Given the description of an element on the screen output the (x, y) to click on. 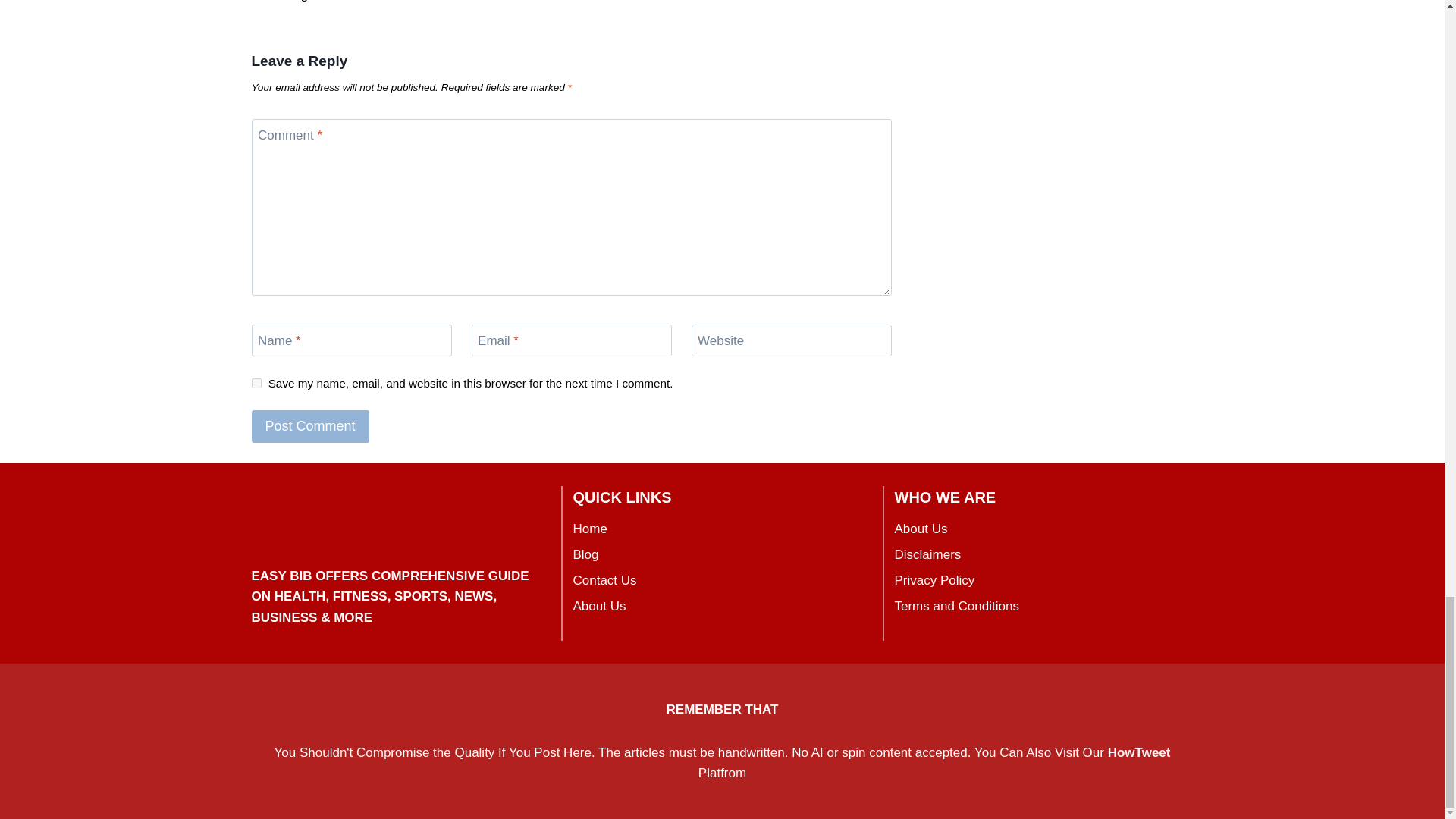
Post Comment (310, 426)
Post Comment (310, 426)
yes (256, 383)
